Given the description of an element on the screen output the (x, y) to click on. 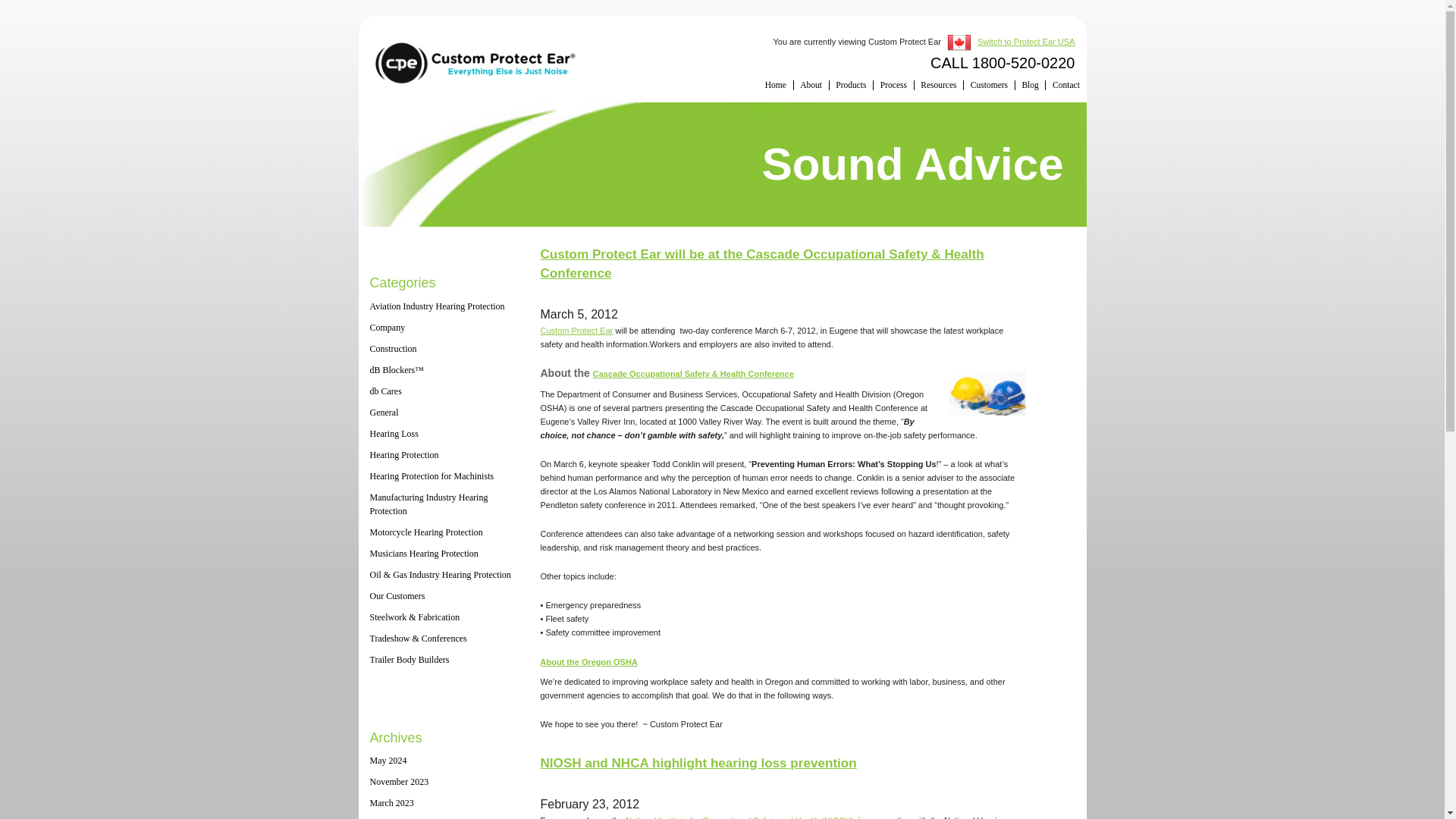
WORPLACE SAFETY  (987, 393)
